Given the description of an element on the screen output the (x, y) to click on. 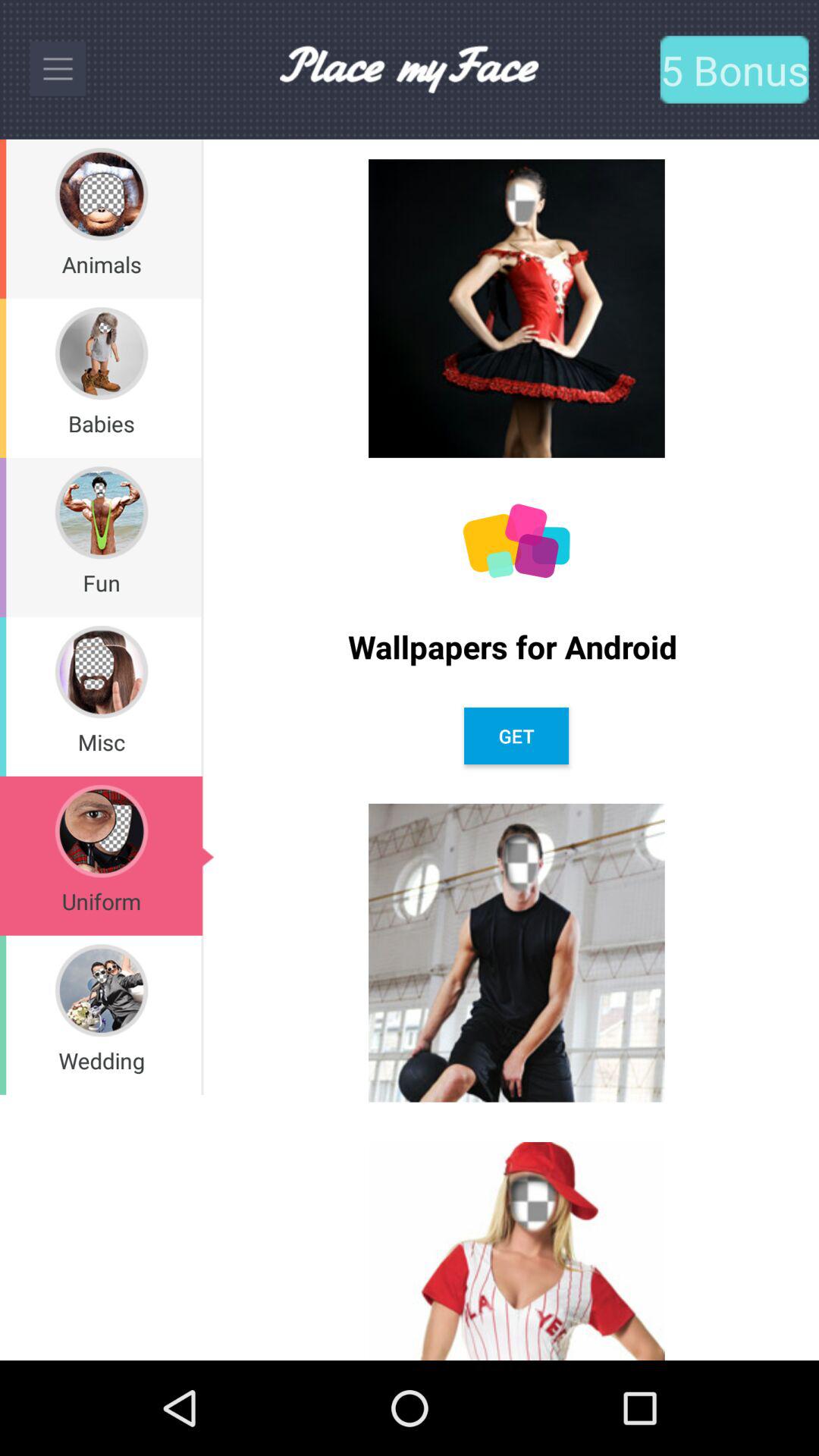
view menu (57, 69)
